Given the description of an element on the screen output the (x, y) to click on. 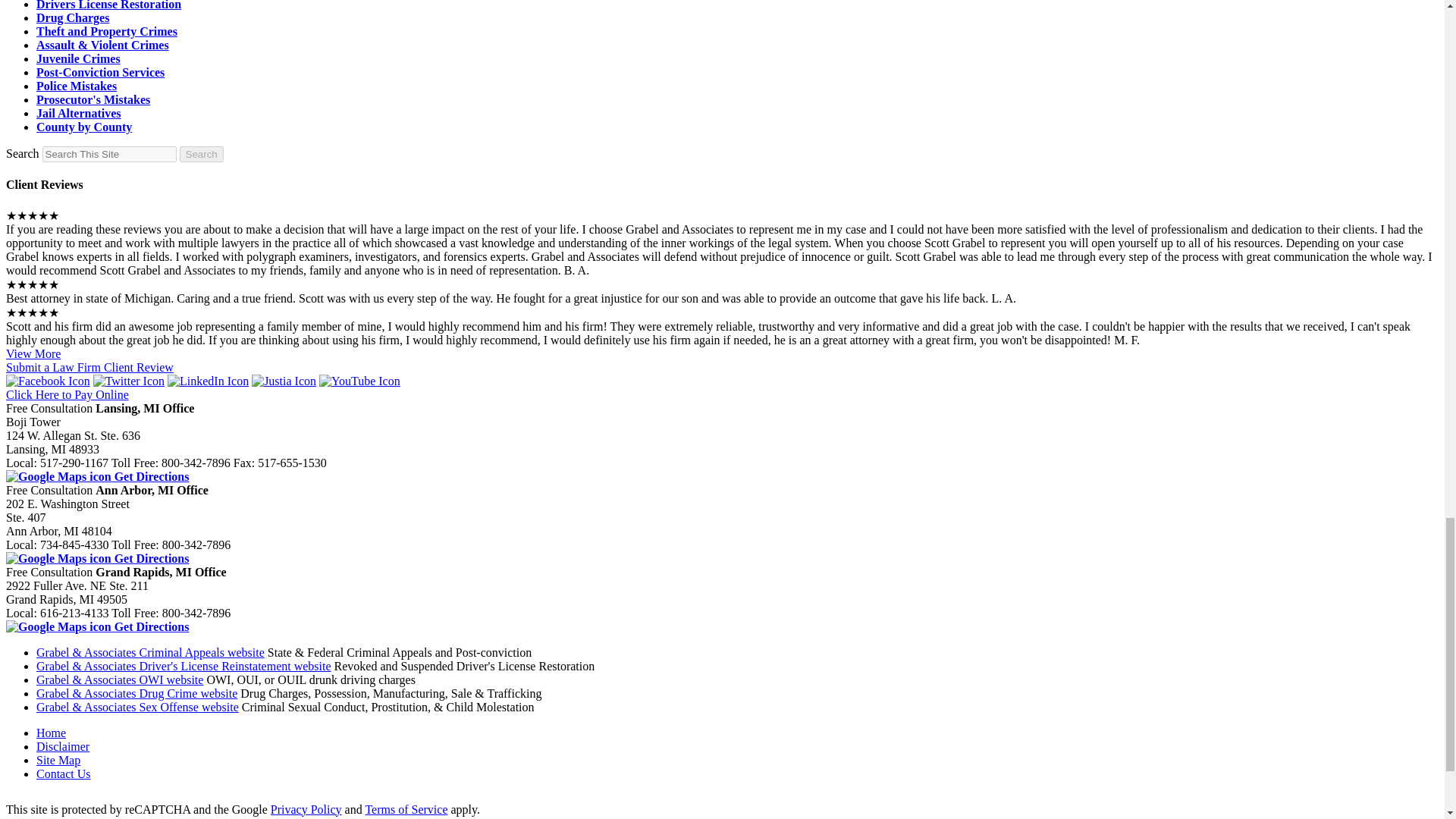
Justia (283, 380)
LinkedIn (207, 380)
Search (109, 154)
Twitter (128, 380)
YouTube (359, 380)
Facebook (47, 380)
